Given the description of an element on the screen output the (x, y) to click on. 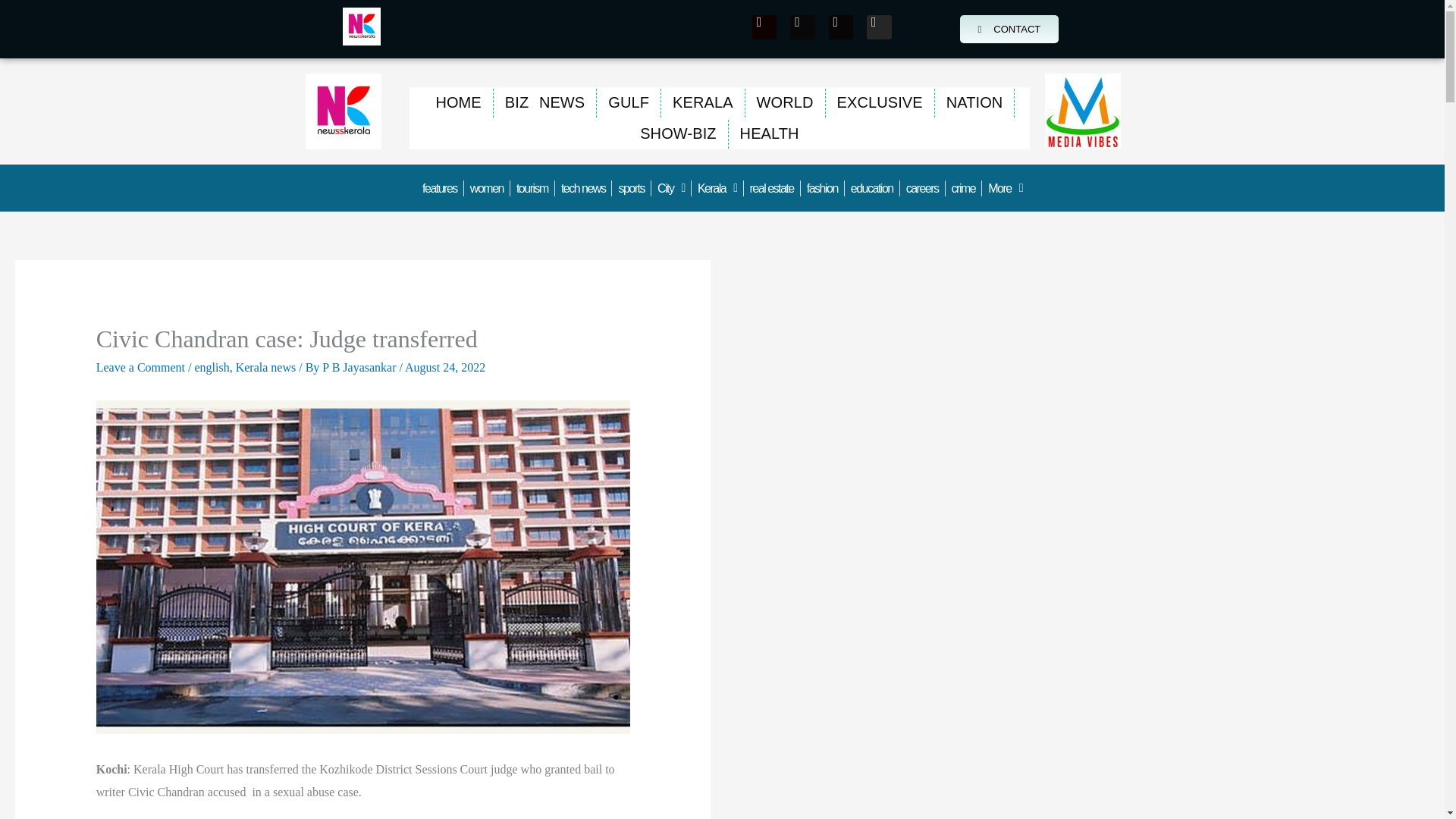
View all posts by P B Jayasankar (359, 367)
women (486, 187)
tourism (532, 187)
tech news (582, 187)
HEALTH (769, 133)
KERALA (702, 101)
WhatsApp Image 2023-02-26 at 9.49.20 AM (1083, 111)
BIZ NEWS (544, 101)
SHOW-BIZ (677, 133)
City (670, 187)
